Given the description of an element on the screen output the (x, y) to click on. 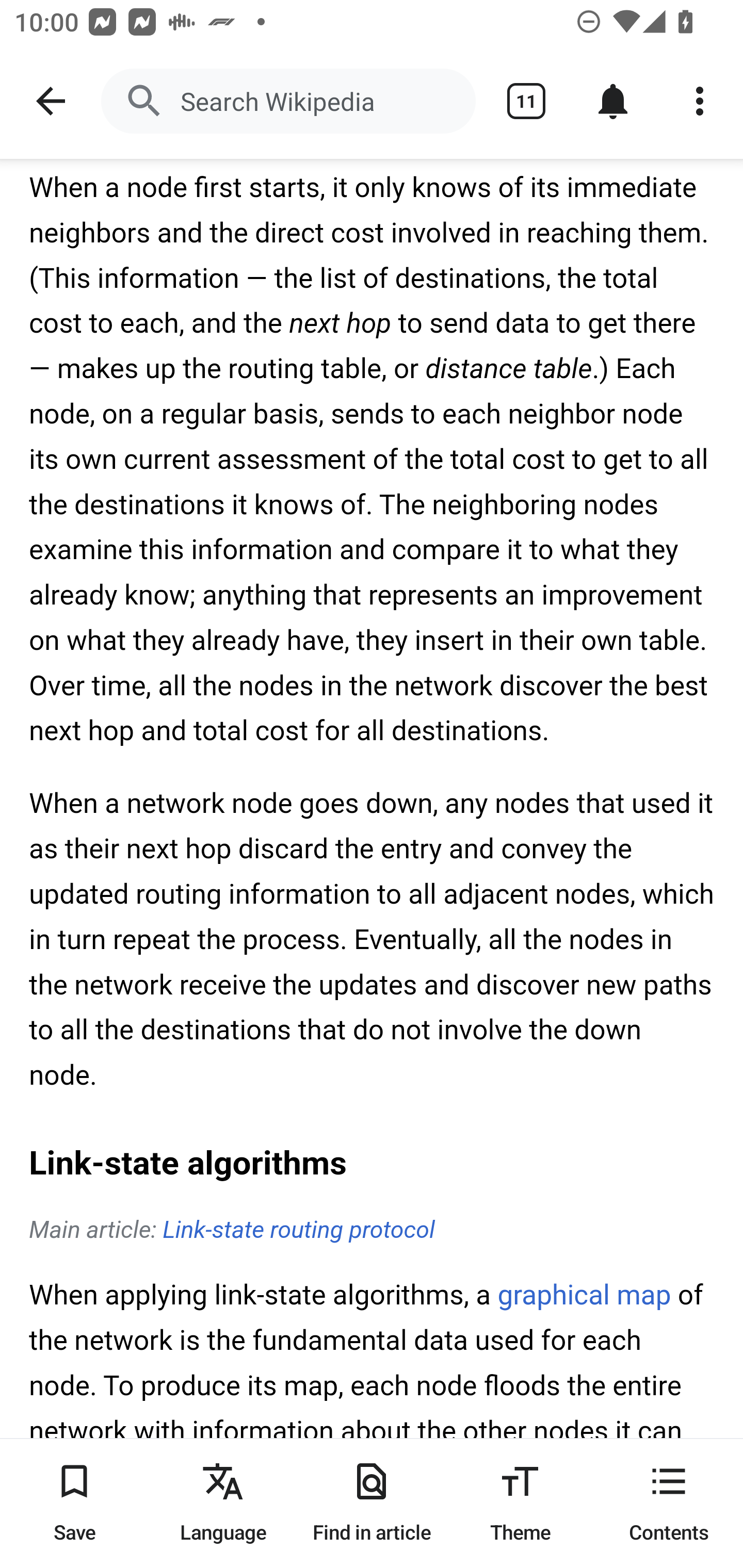
Show tabs 11 (525, 100)
Notifications (612, 100)
Navigate up (50, 101)
More options (699, 101)
Search Wikipedia (288, 100)
Link-state routing protocol (298, 1230)
graphical map (583, 1296)
Save (74, 1502)
Language (222, 1502)
Find in article (371, 1502)
Theme (519, 1502)
Contents (668, 1502)
